Given the description of an element on the screen output the (x, y) to click on. 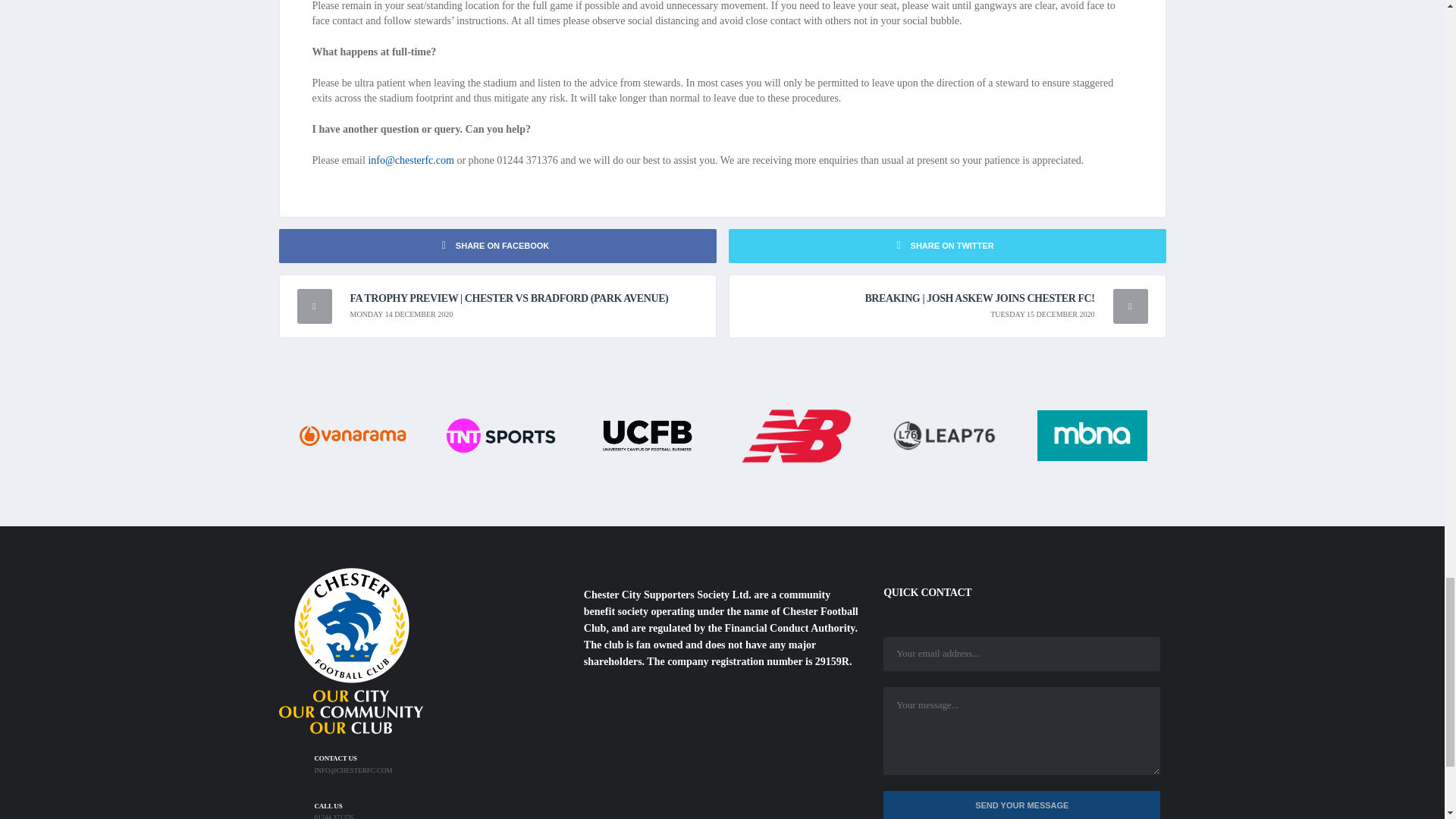
UCFB Logo (647, 434)
Send Your Message (1021, 805)
